Given the description of an element on the screen output the (x, y) to click on. 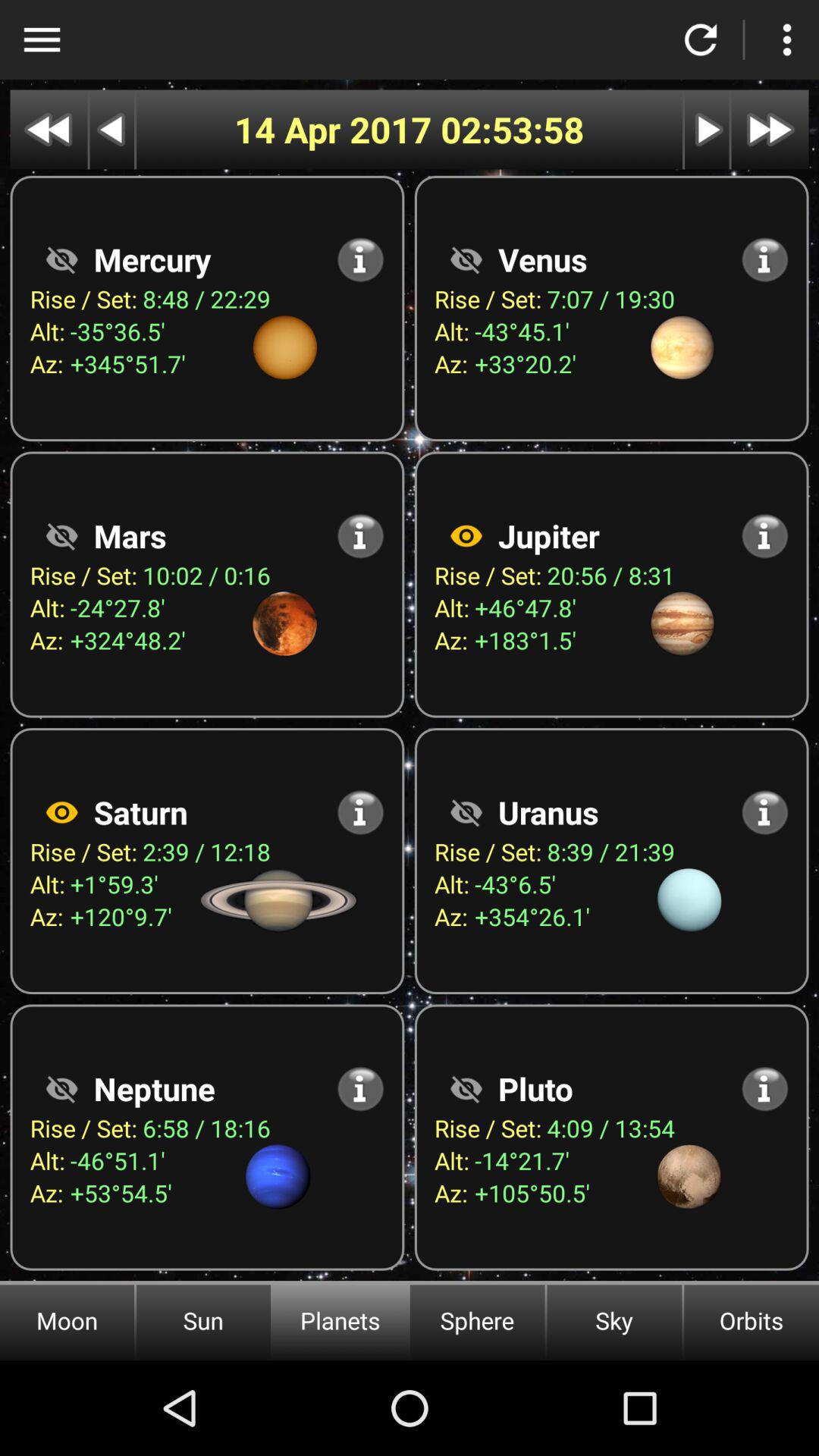
the eye crossed out indicates that the planet is not visible during the time of observation (466, 259)
